Given the description of an element on the screen output the (x, y) to click on. 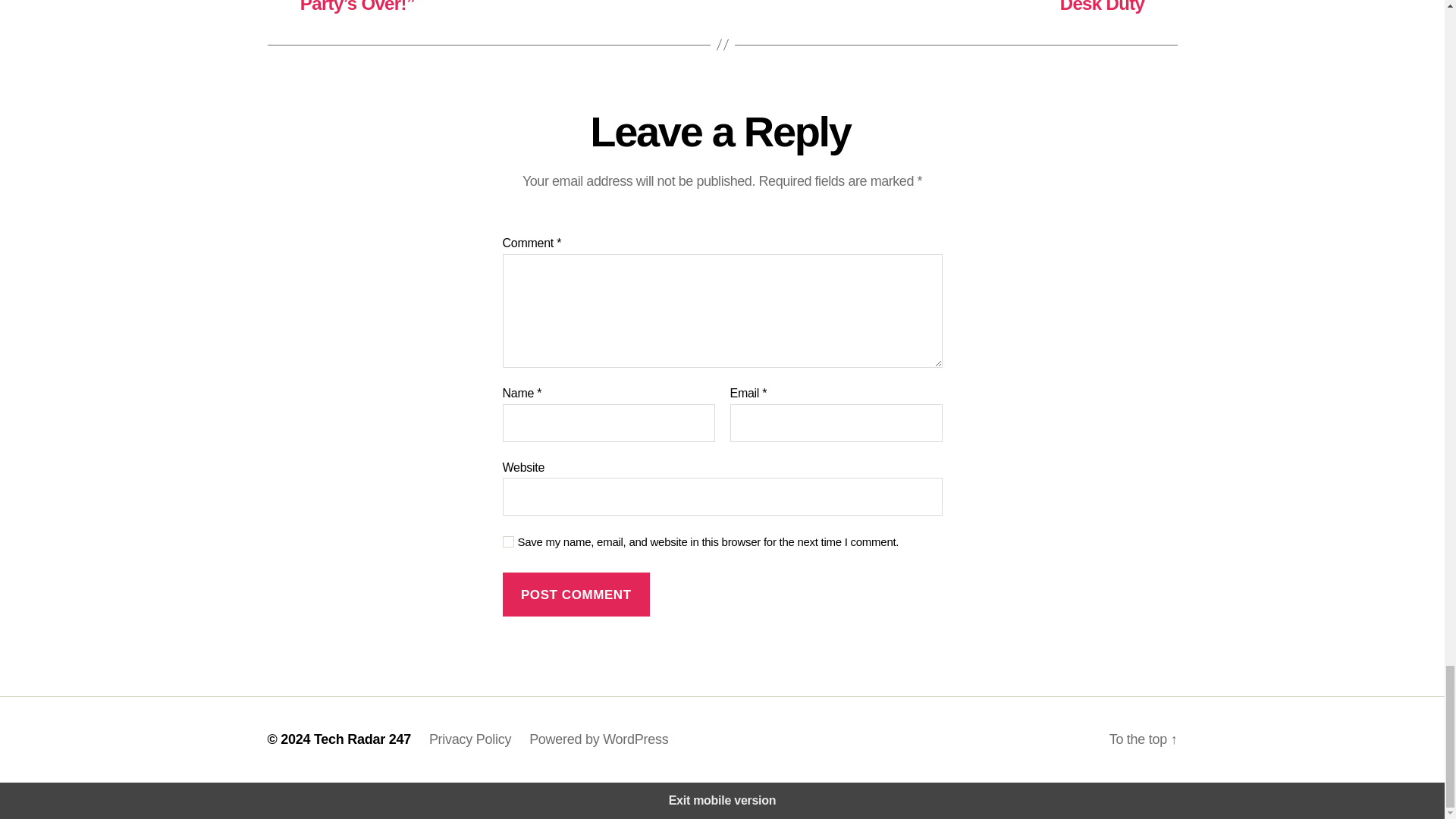
Post Comment (575, 594)
Privacy Policy (470, 739)
Post Comment (575, 594)
yes (507, 541)
Tech Radar 247 (362, 739)
Powered by WordPress (598, 739)
